Given the description of an element on the screen output the (x, y) to click on. 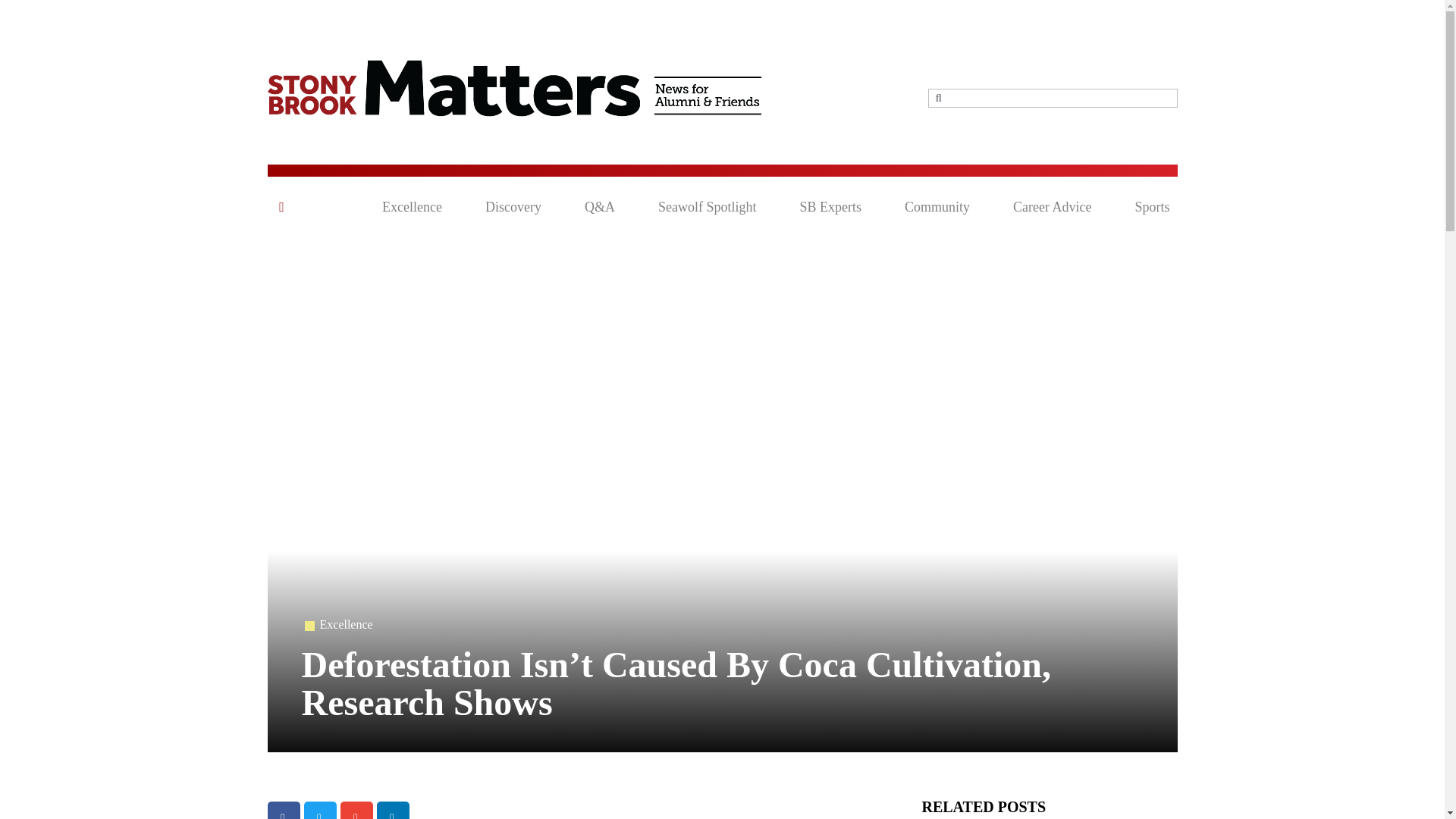
Seawolf Spotlight (707, 206)
Career Advice (1051, 206)
Discovery (512, 206)
SB Experts (830, 206)
Excellence (411, 206)
Excellence (346, 624)
Community (936, 206)
Sports (1151, 206)
